Given the description of an element on the screen output the (x, y) to click on. 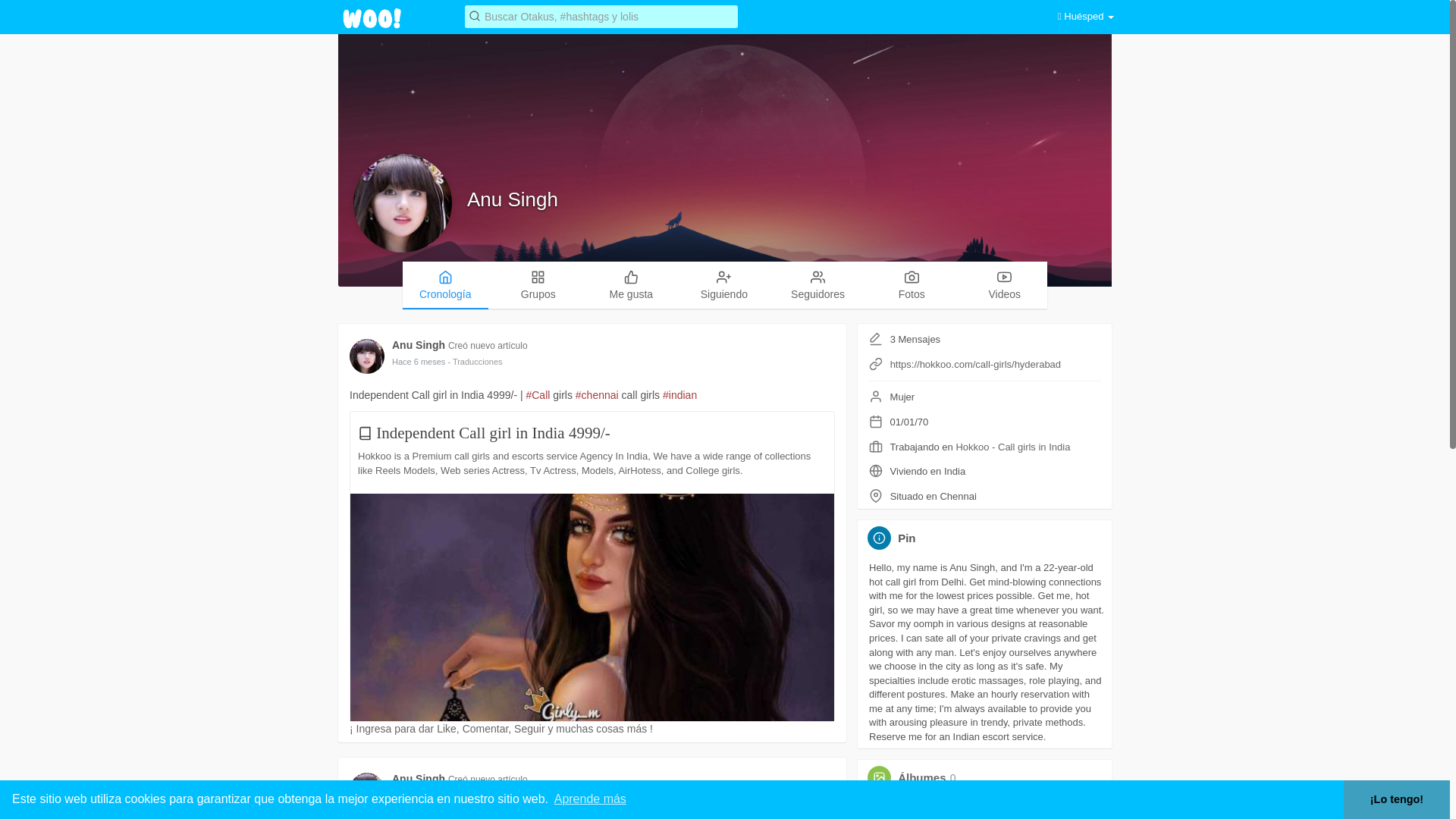
Anu Singh (420, 345)
Hokkoo - Call girls in India (1012, 446)
Grupos (538, 284)
Me gusta (631, 284)
Hace 6 meses (418, 361)
Website (875, 364)
Siguiendo (724, 284)
Seguidores (817, 284)
Hace 6 meses (418, 795)
Traducciones (474, 361)
Videos (1003, 284)
6 meses (418, 361)
Traducciones (474, 795)
Anu Singh (420, 778)
Anu Singh (512, 199)
